Given the description of an element on the screen output the (x, y) to click on. 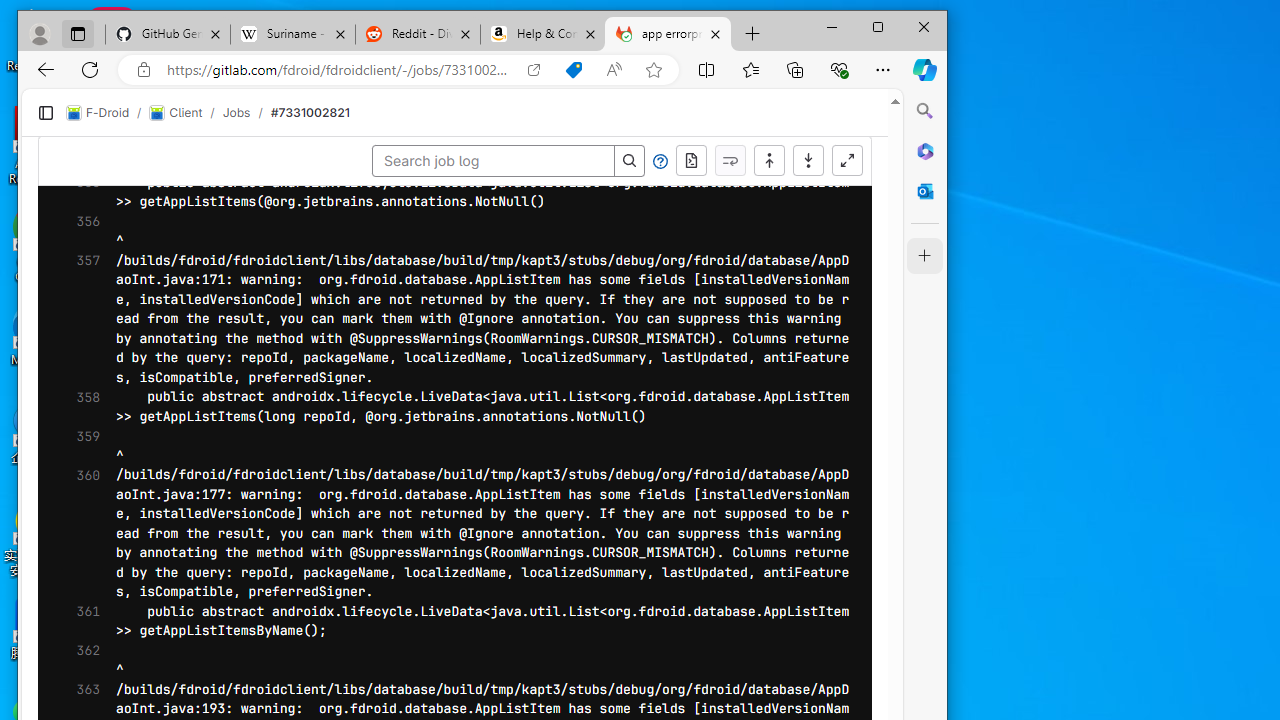
F-Droid/ (326, 96)
Jobs (454, 95)
392 (73, 98)
396 (73, 177)
418 (73, 606)
406 (73, 372)
391 (73, 79)
F-Droid (316, 96)
400 (73, 254)
398 (73, 215)
